Given the description of an element on the screen output the (x, y) to click on. 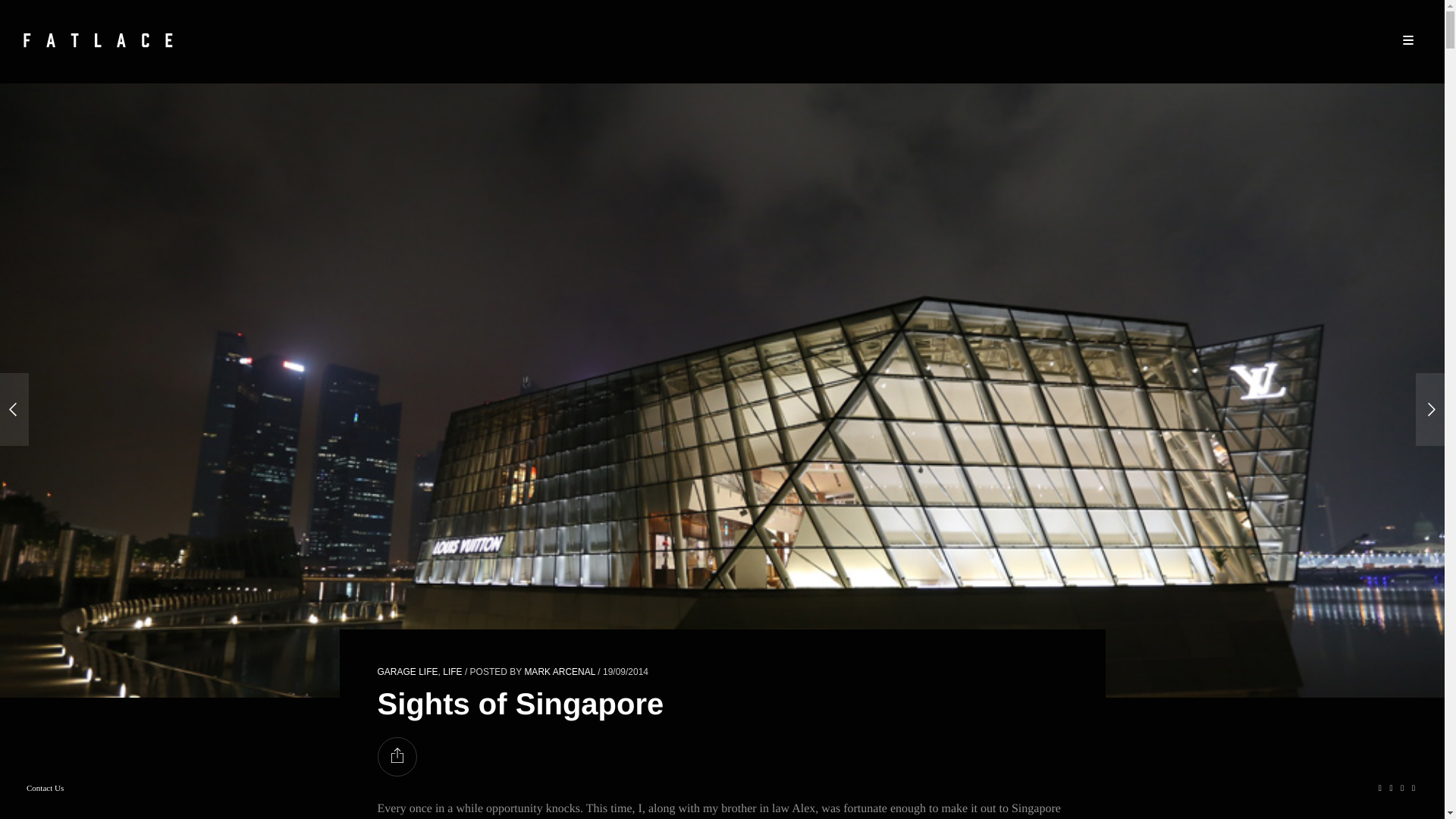
MARK ARCENAL (559, 671)
LIFE (451, 671)
GARAGE LIFE (407, 671)
Posts by Mark Arcenal (559, 671)
